Given the description of an element on the screen output the (x, y) to click on. 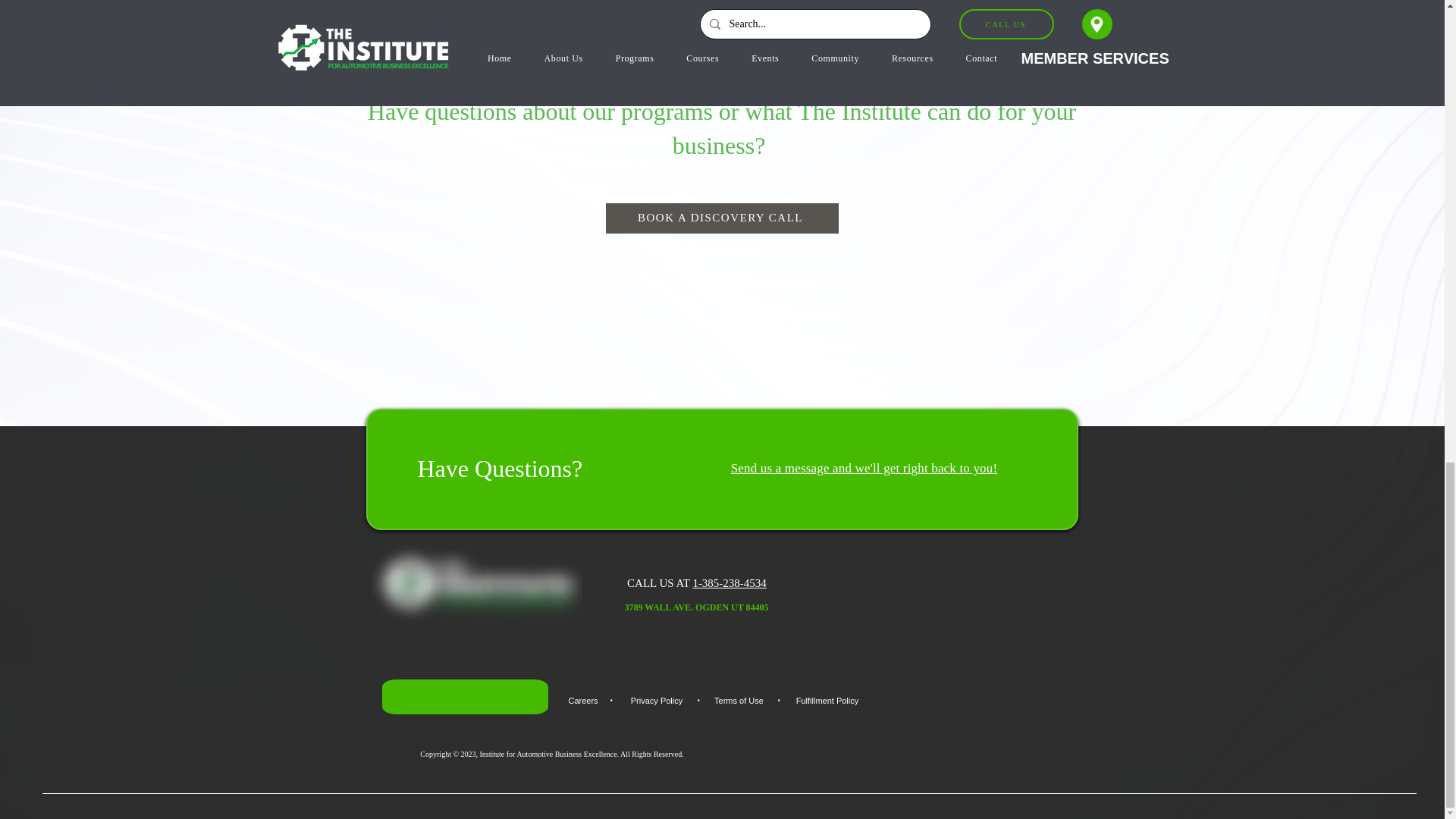
BOOK A DISCOVERY CALL (721, 218)
Have Questions? (499, 468)
1-385-238-4534 (730, 582)
Send us a message and we'll get right back to you! (863, 468)
